Given the description of an element on the screen output the (x, y) to click on. 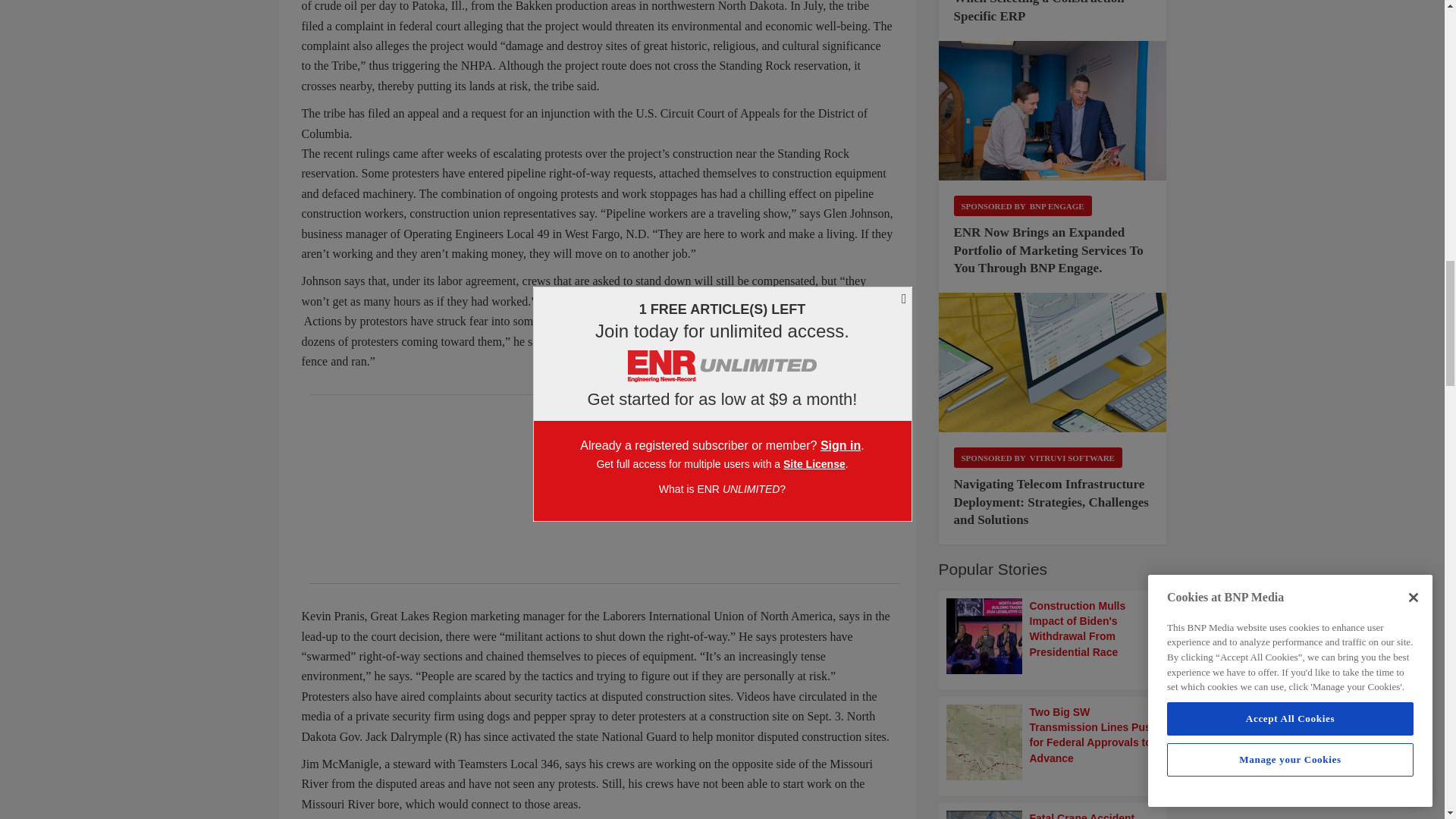
construction software (1052, 362)
Sponsored by Vitruvi Software (1037, 457)
BNP Engage (1052, 110)
Sponsored by BNP Engage (1022, 205)
